Given the description of an element on the screen output the (x, y) to click on. 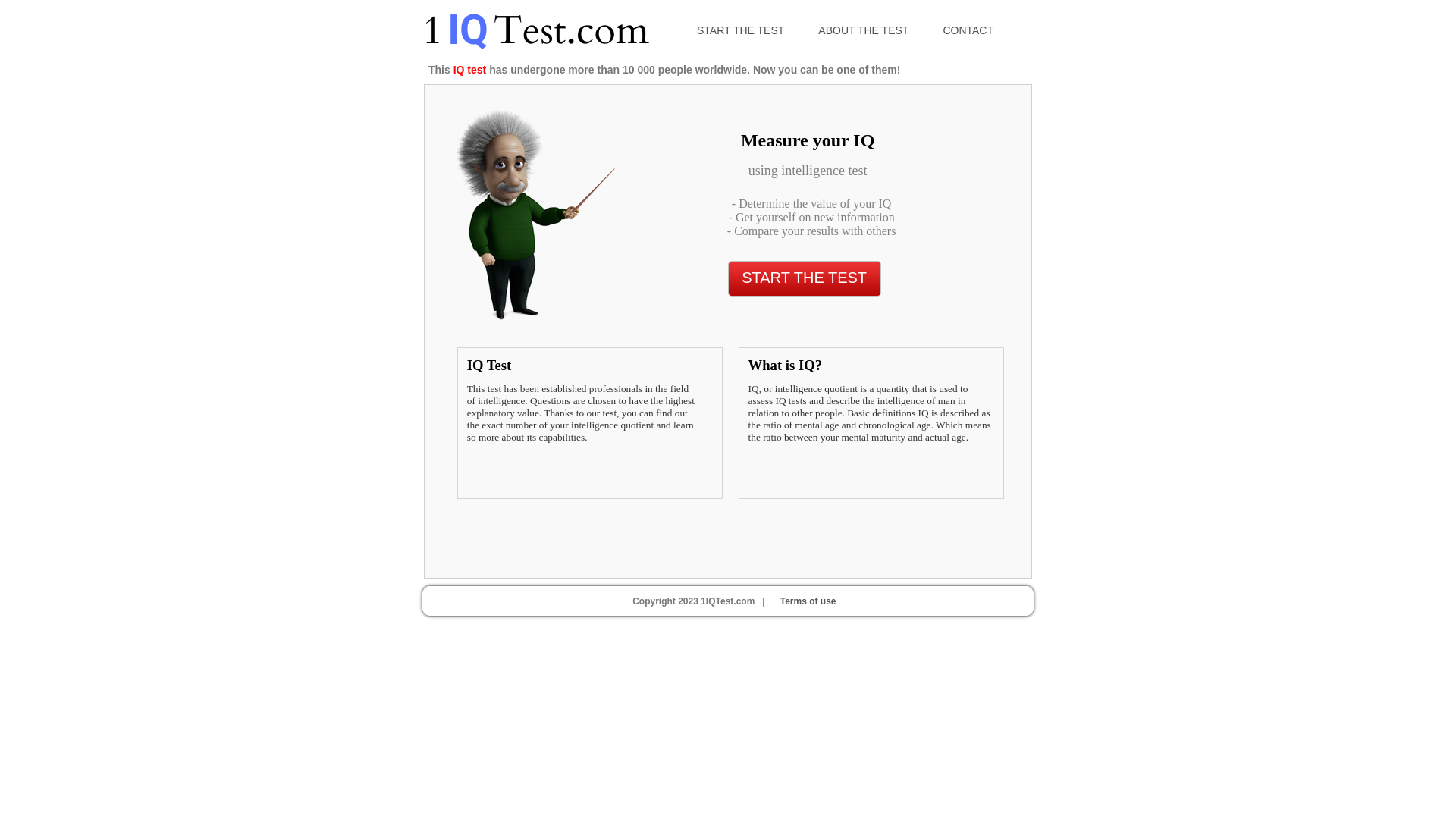
Terms of use Element type: text (804, 601)
START THE TEST Element type: text (749, 29)
CONTACT Element type: text (977, 29)
ABOUT THE TEST Element type: text (872, 29)
START THE TEST Element type: text (804, 278)
